Given the description of an element on the screen output the (x, y) to click on. 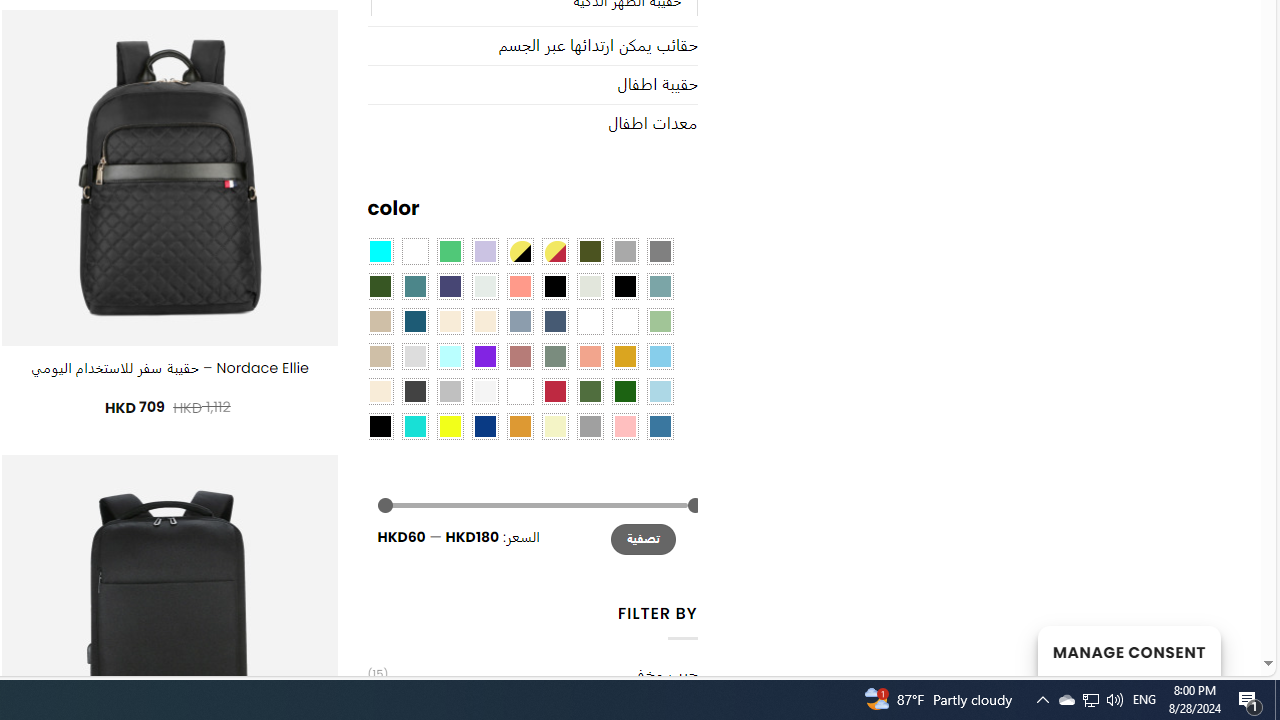
Dusty Blue (519, 321)
Khaki (624, 321)
Cream (484, 321)
Mint (449, 355)
Forest (379, 285)
Emerald Green (449, 251)
Sage (554, 355)
